Given the description of an element on the screen output the (x, y) to click on. 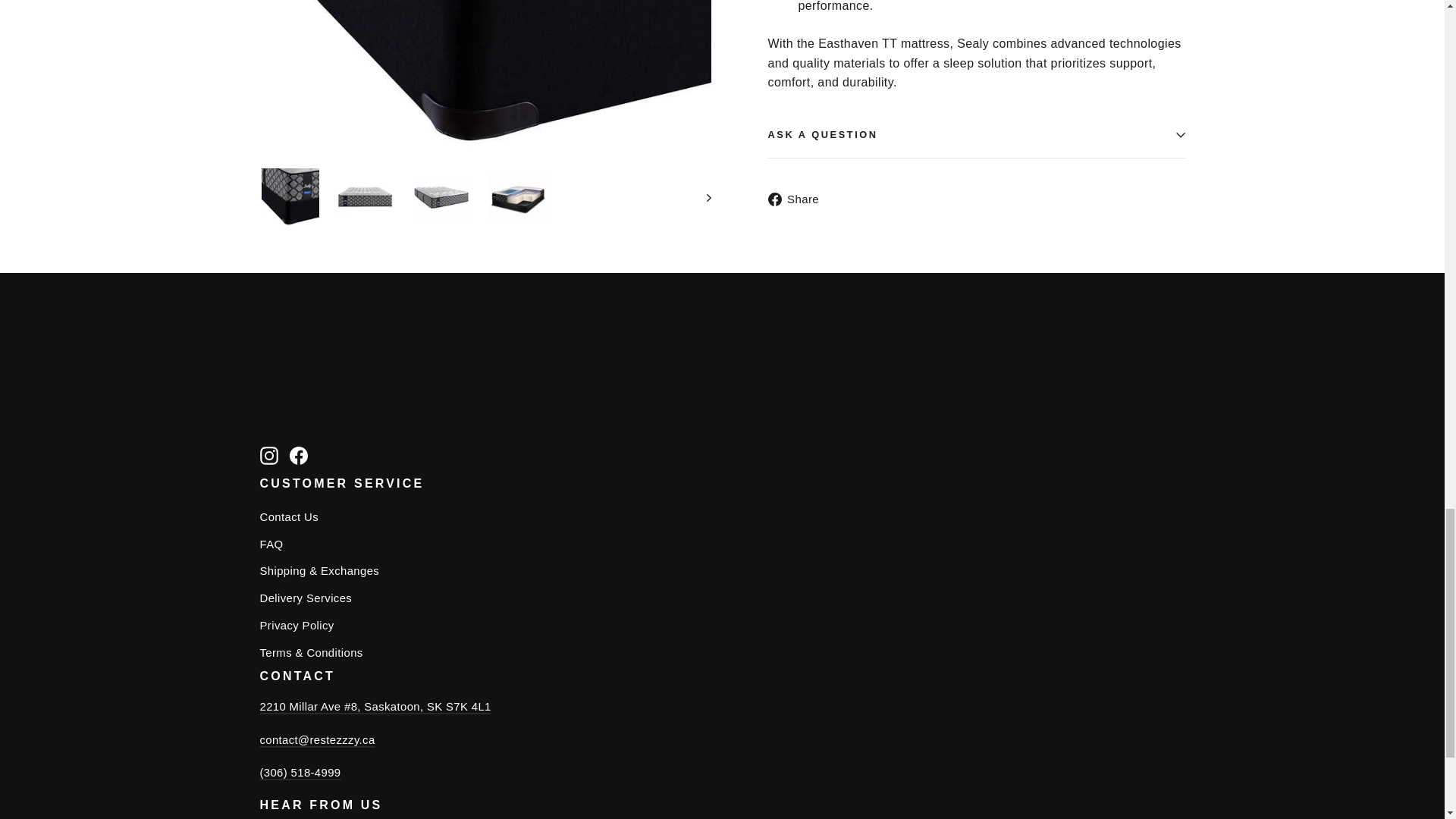
Restezzzy Mattresses Inc. on Facebook (298, 455)
instagram (268, 455)
Share on Facebook (798, 198)
Restezzzy Mattresses Inc. on Instagram (268, 455)
